Given the description of an element on the screen output the (x, y) to click on. 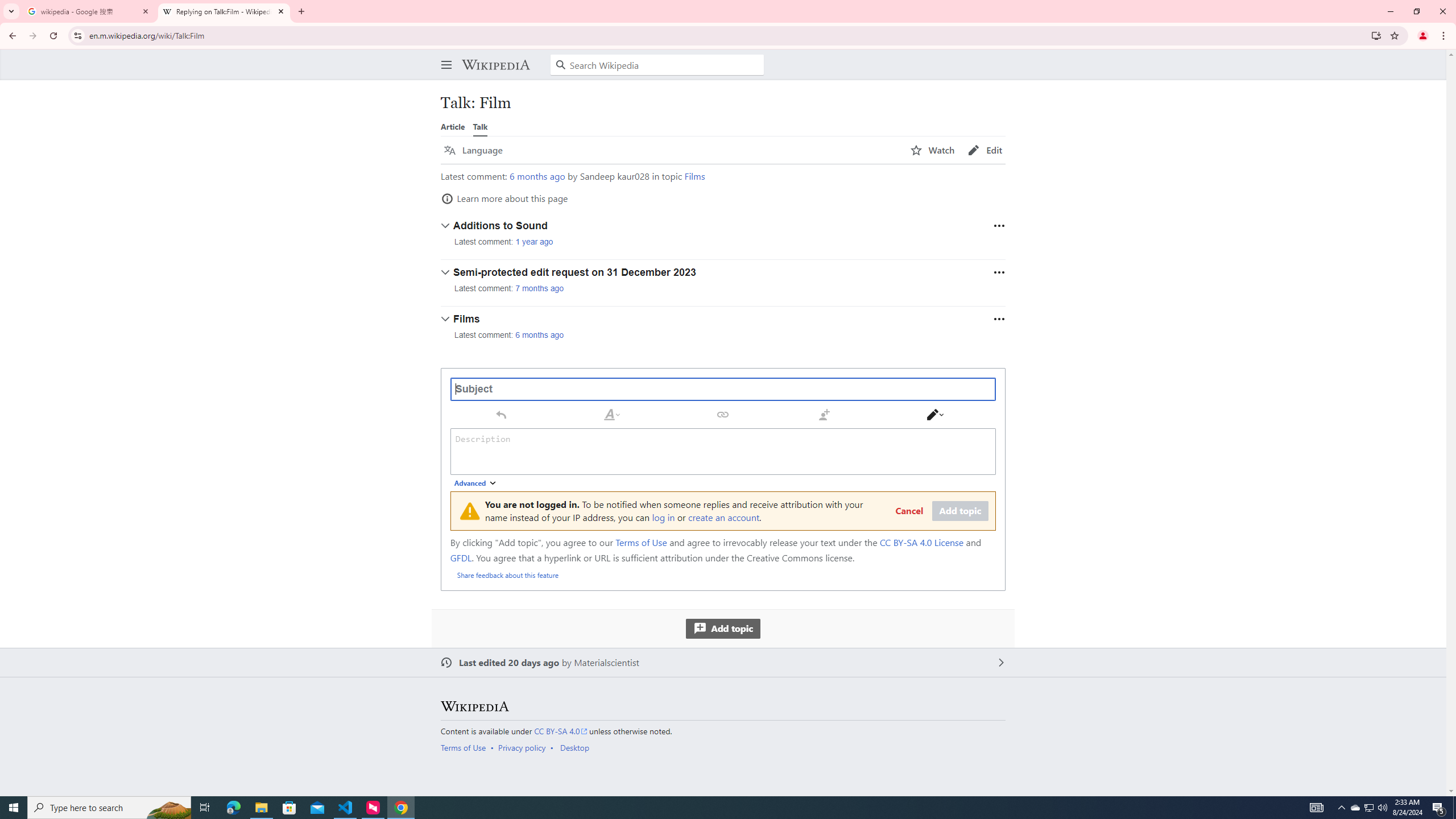
Desktop (574, 747)
AutomationID: footer-places-terms-use (466, 747)
Add topic (722, 628)
6 months ago (539, 334)
Last edited 20 days ago by Materialscientist (722, 662)
CC BY-SA 4.0 License (921, 542)
CC BY-SA 4.0 (561, 731)
AutomationID: footer-places-privacy (525, 747)
Cancel (909, 511)
Privacy policy (521, 747)
Article (452, 126)
Language (472, 149)
